Given the description of an element on the screen output the (x, y) to click on. 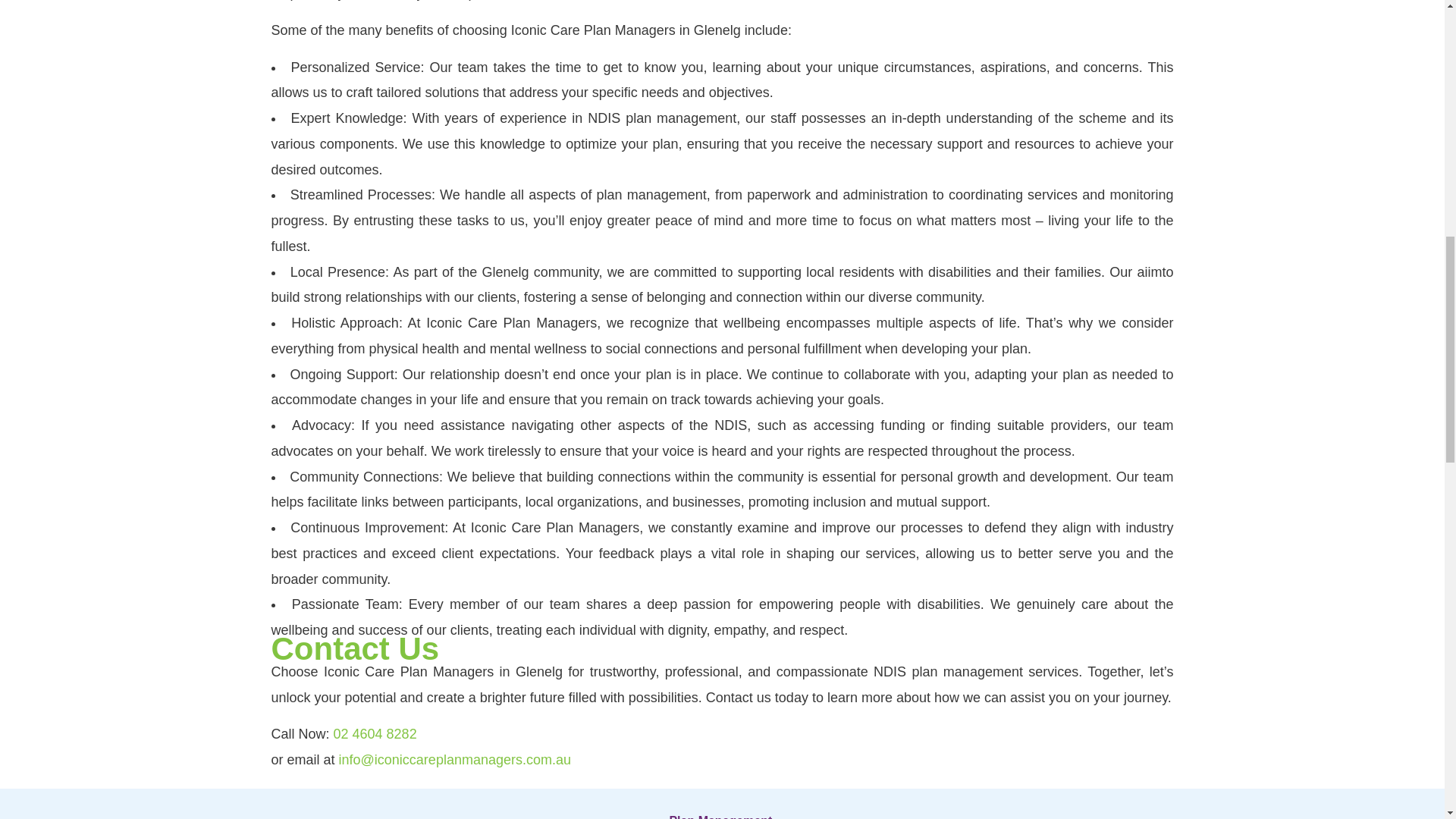
02 4604 8282 (374, 734)
